Given the description of an element on the screen output the (x, y) to click on. 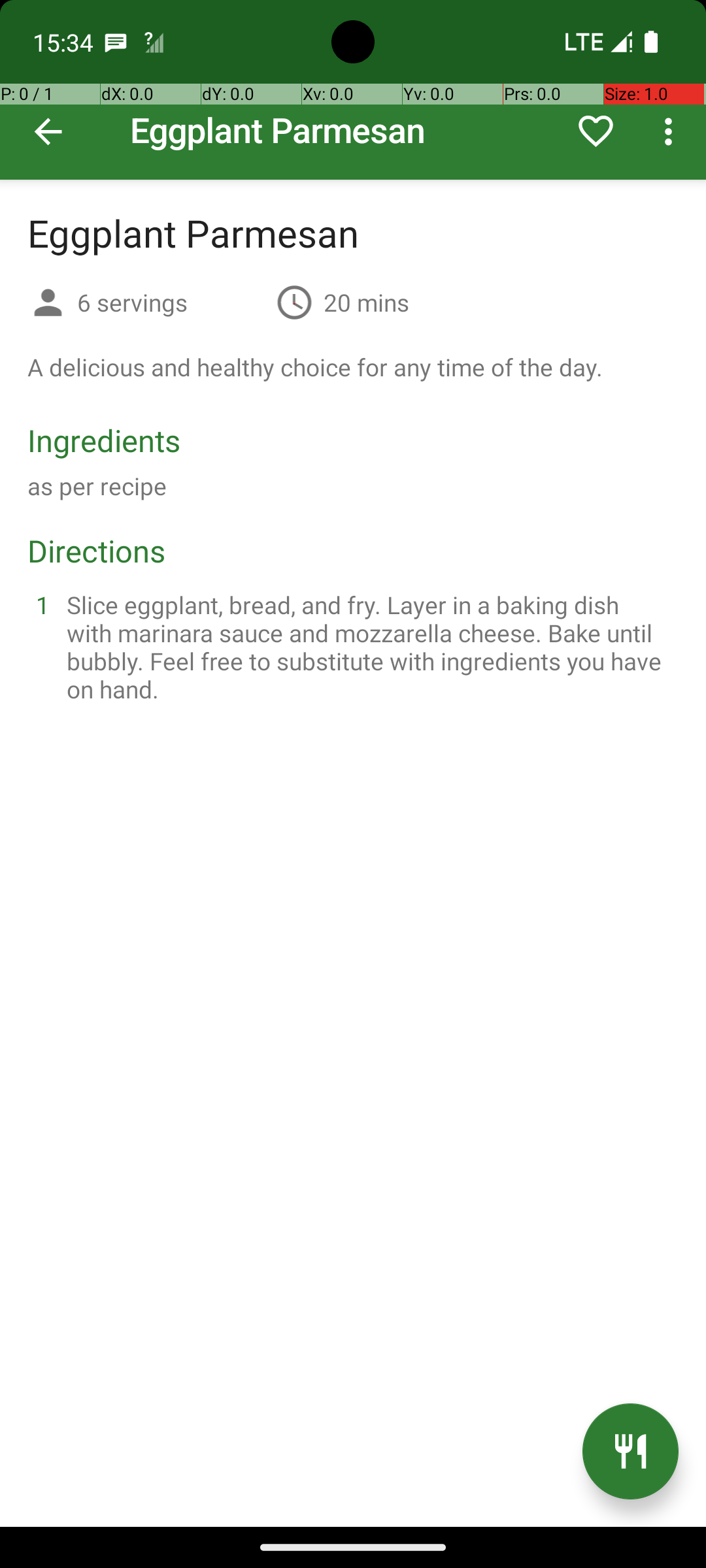
Slice eggplant, bread, and fry. Layer in a baking dish with marinara sauce and mozzarella cheese. Bake until bubbly. Feel free to substitute with ingredients you have on hand. Element type: android.widget.TextView (368, 646)
